Given the description of an element on the screen output the (x, y) to click on. 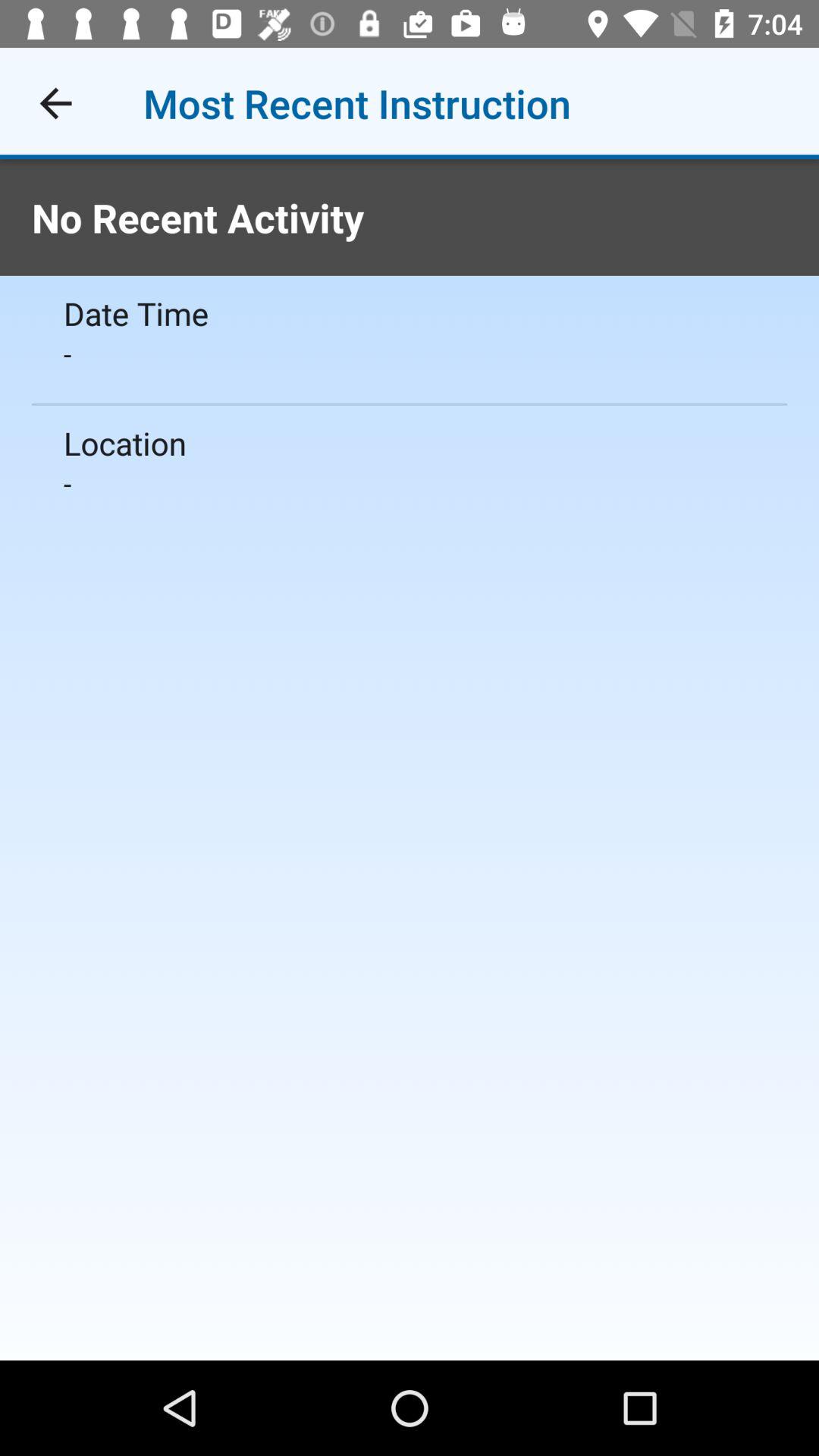
tap - icon (409, 483)
